Given the description of an element on the screen output the (x, y) to click on. 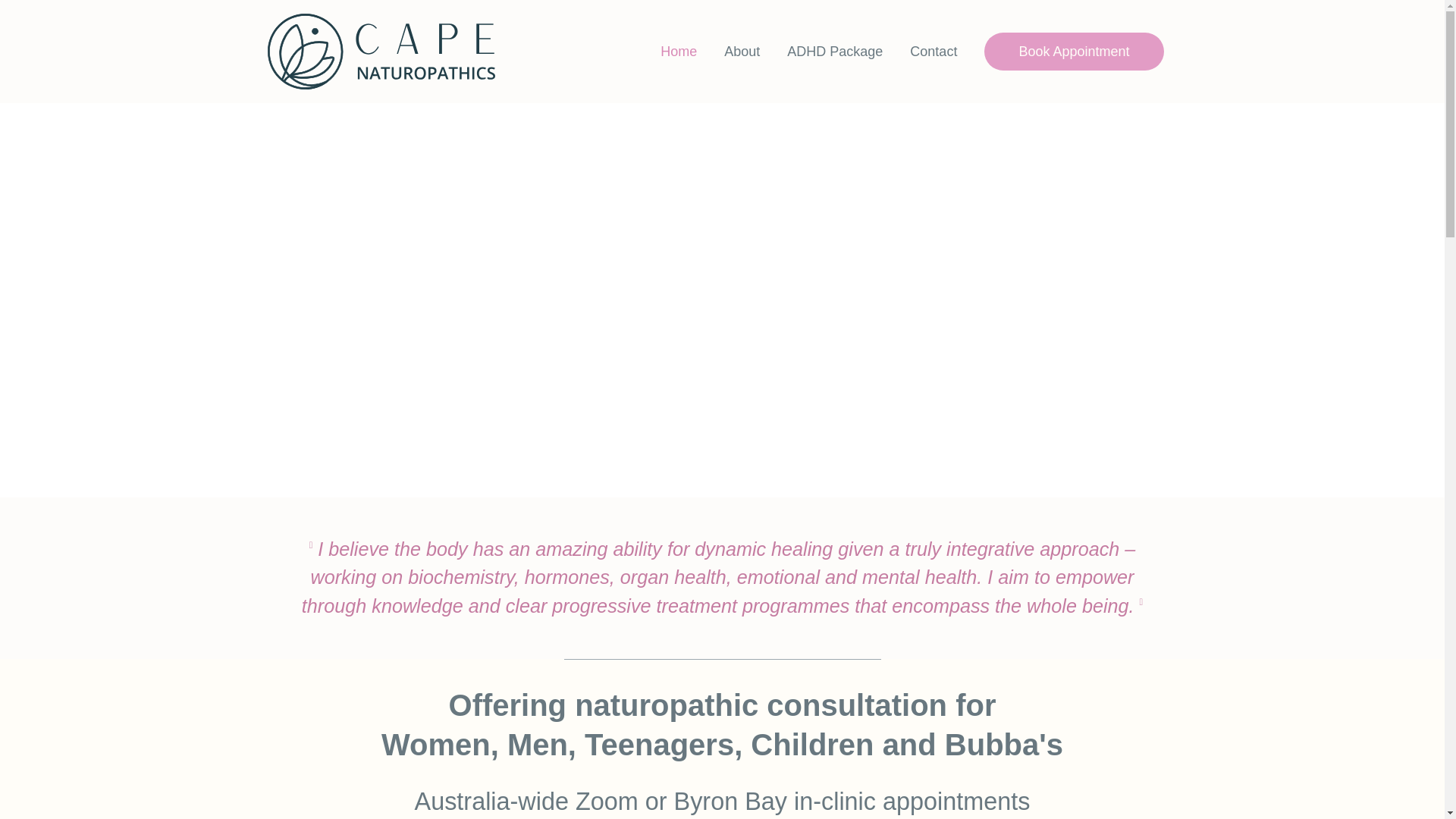
Home (678, 51)
Book Appointment (1073, 51)
ADHD Package (834, 51)
About (741, 51)
Contact (933, 51)
